Given the description of an element on the screen output the (x, y) to click on. 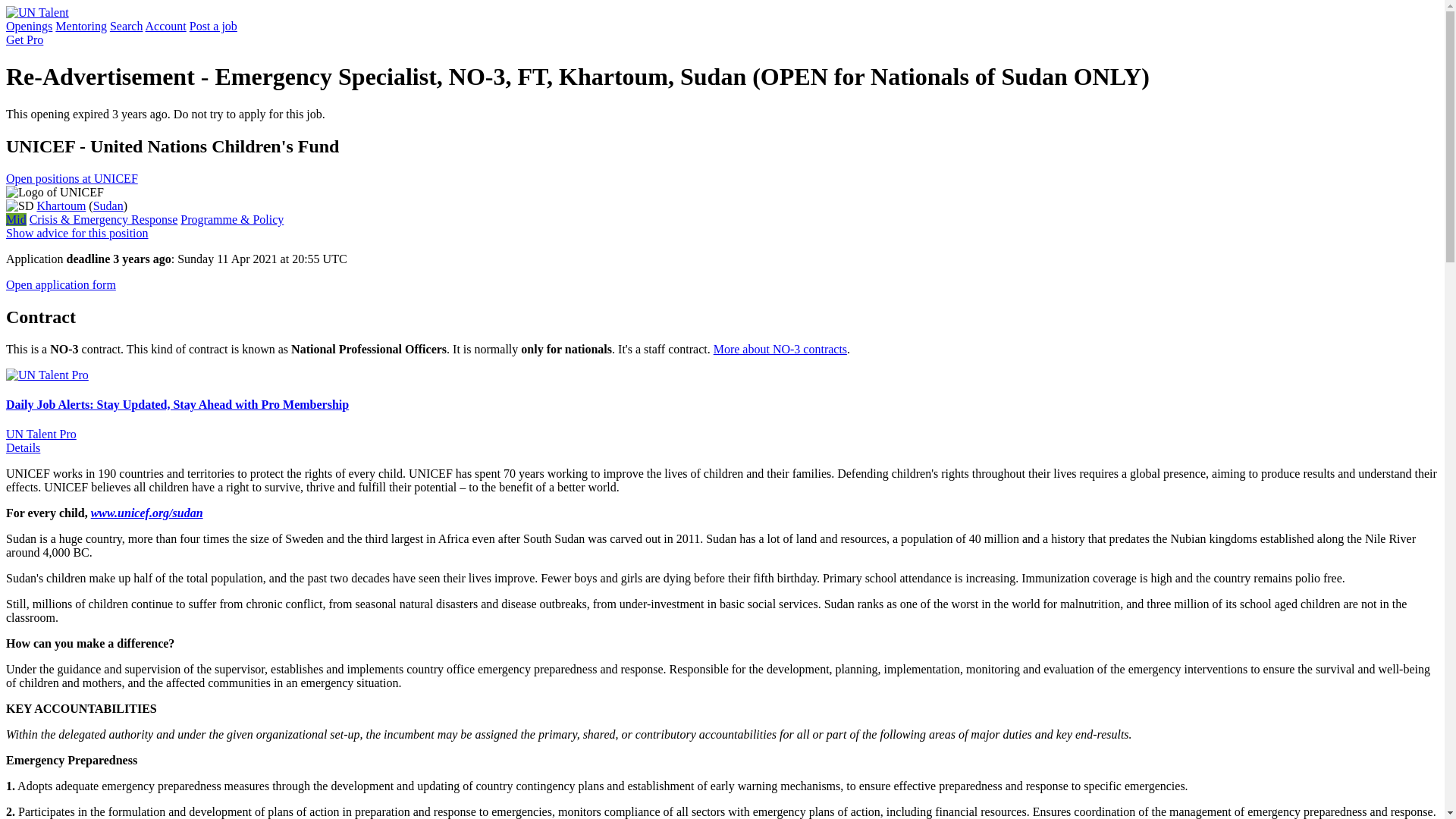
Openings (28, 25)
More about NO-3 contracts (780, 349)
Sudan (108, 205)
Mid (15, 219)
Open application form (60, 284)
Search (126, 25)
Post a job (213, 25)
Khartoum (60, 205)
Mentoring (80, 25)
Open positions at UNICEF (71, 178)
Account (165, 25)
Details (22, 447)
Show advice for this position (76, 232)
UN Talent Pro (41, 433)
Get Pro (24, 39)
